Given the description of an element on the screen output the (x, y) to click on. 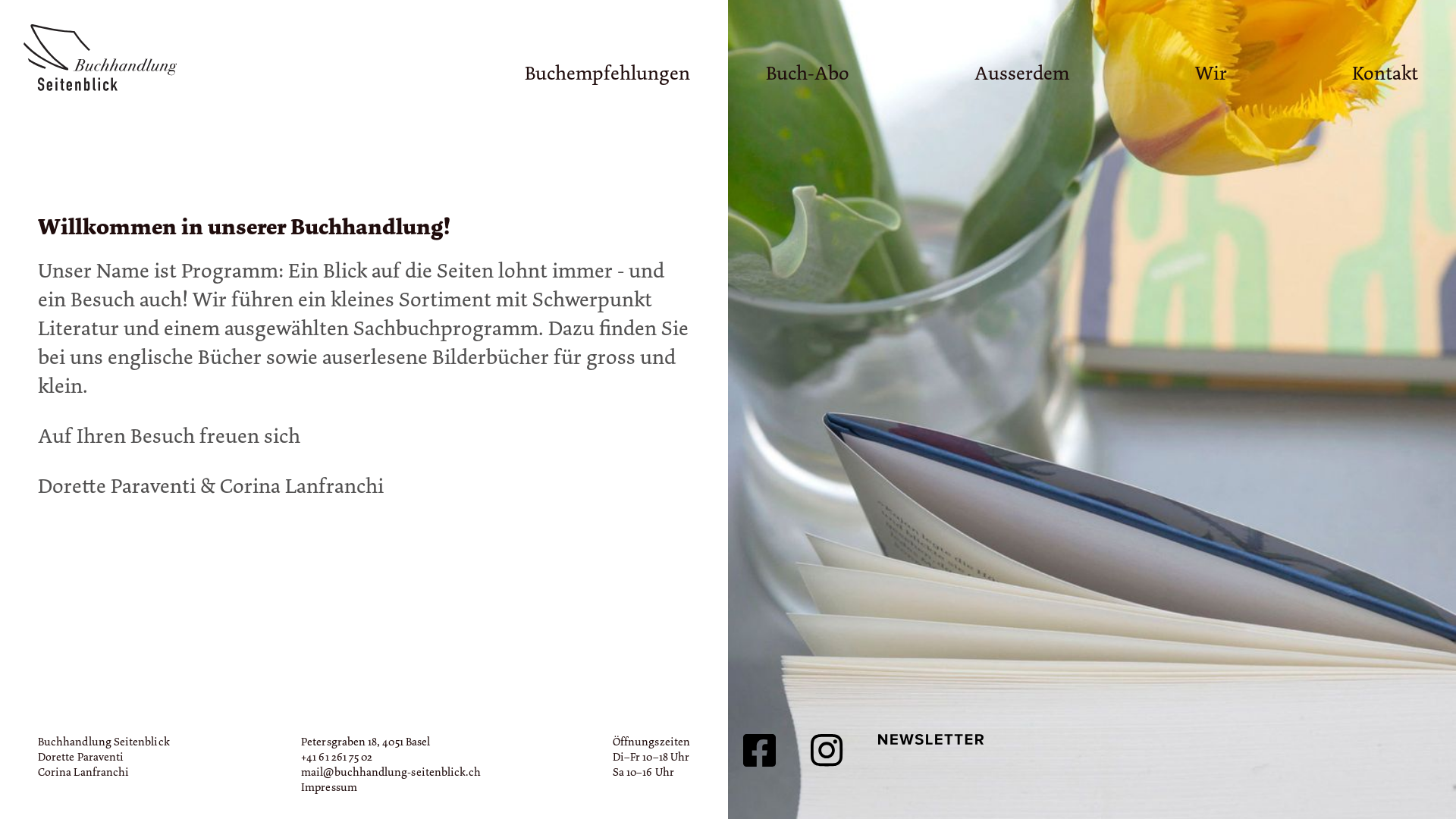
Buch-Abo Element type: text (807, 72)
Impressum Element type: text (329, 786)
mail@buchhandlung-seitenblick.ch Element type: text (390, 771)
Buchempfehlungen Element type: text (607, 72)
Ausserdem Element type: text (1021, 72)
Wir Element type: text (1210, 72)
+41 61 261 75 02 Element type: text (336, 756)
Kontakt Element type: text (1385, 72)
image/svg+xml Element type: text (114, 60)
